Given the description of an element on the screen output the (x, y) to click on. 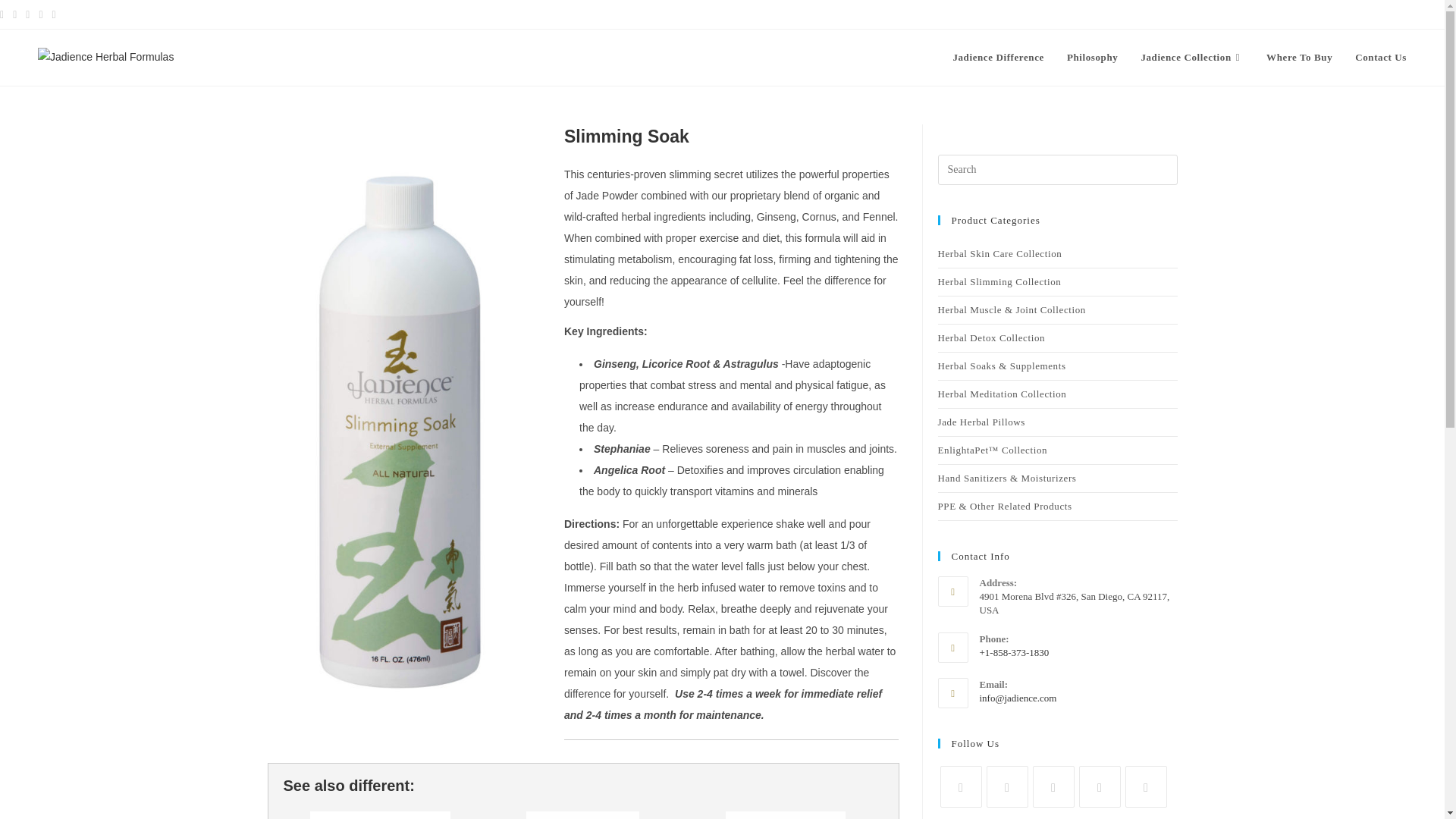
Philosophy (1092, 57)
Herbal Formulations (1173, 13)
Where To Buy (1299, 57)
Adaptogenic Herbs (1089, 13)
The System (1244, 13)
Herbal Slimming Collection (1056, 281)
My Account (1392, 13)
Testimonials (1300, 13)
Contact Us (1380, 57)
Slimming Formula (582, 815)
